Given the description of an element on the screen output the (x, y) to click on. 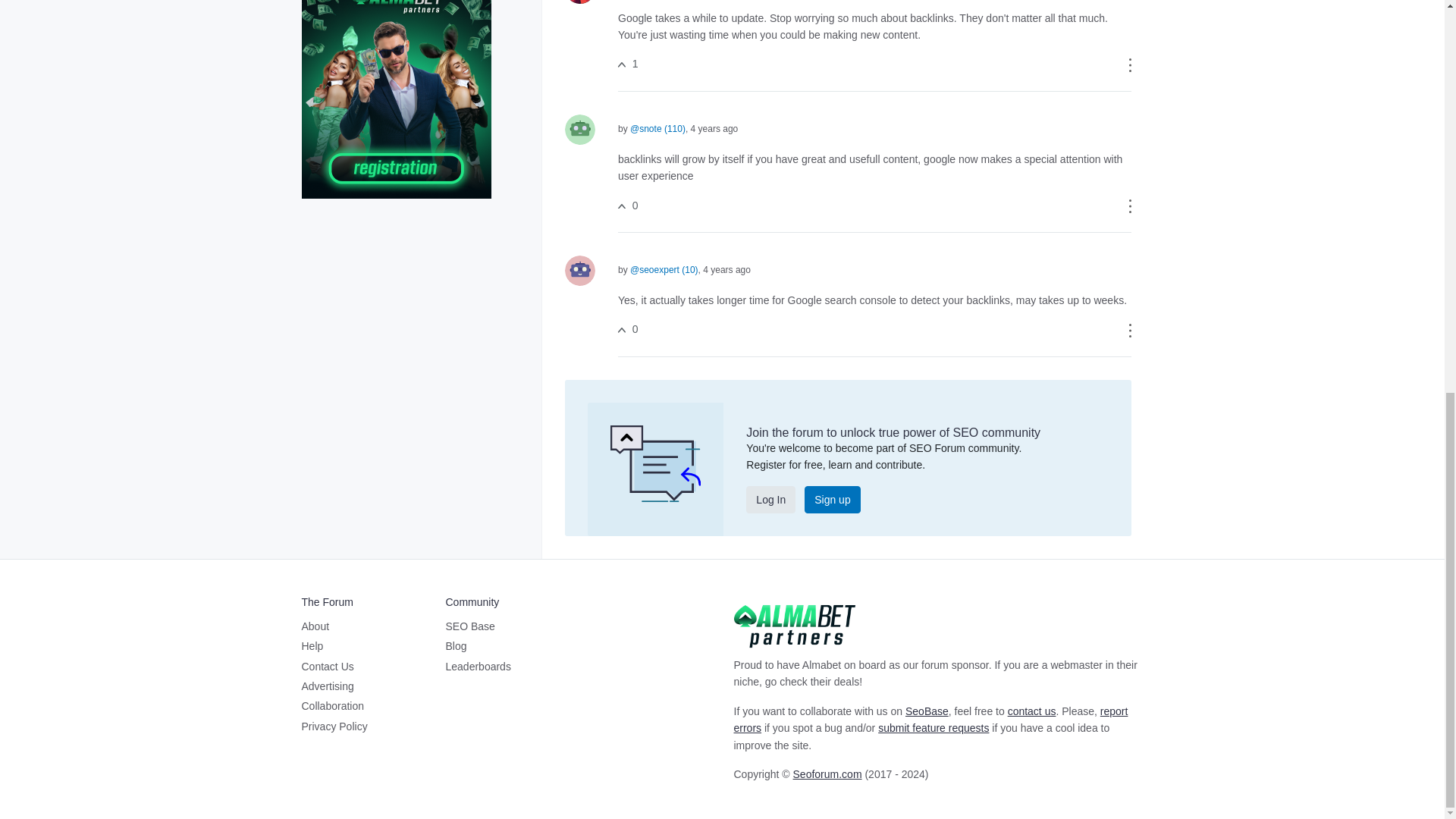
Almabet (794, 625)
0 (627, 205)
seoexpert (579, 270)
Almabet Partners (396, 45)
1 (627, 63)
shane (579, 2)
snote (579, 129)
